Given the description of an element on the screen output the (x, y) to click on. 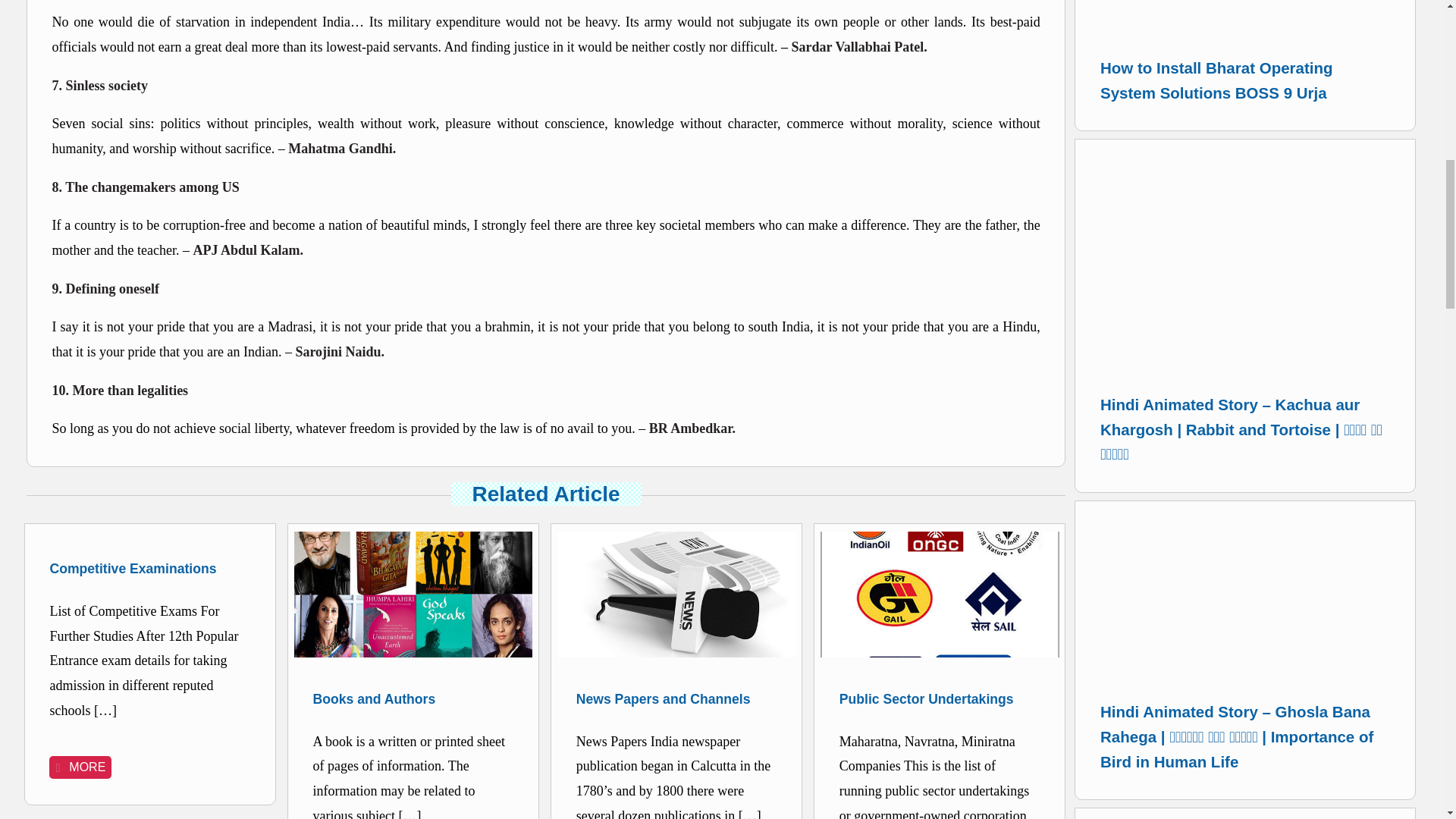
Public Sector Undertakings (940, 699)
News Papers and Channels (676, 699)
Competitive Examinations (149, 568)
MORE (80, 766)
Books and Authors (413, 699)
